Given the description of an element on the screen output the (x, y) to click on. 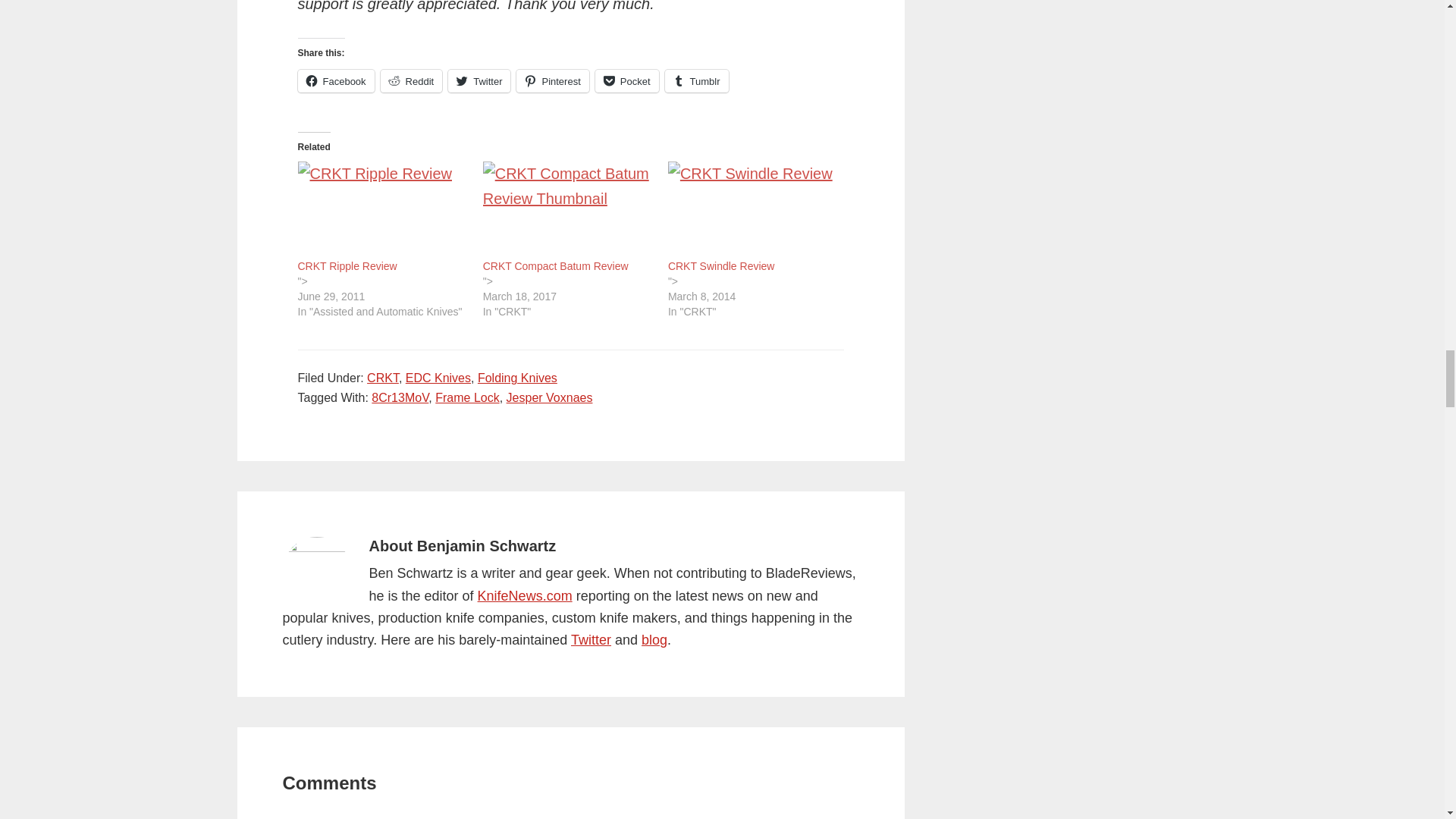
Click to share on Tumblr (697, 80)
Click to share on Twitter (479, 80)
June 29, 2011 (382, 296)
Click to share on Facebook (335, 80)
CRKT Ripple Review (382, 209)
June 29, 2011 (382, 288)
Click to share on Pinterest (552, 80)
CRKT Ripple Review (346, 265)
Click to share on Reddit (411, 80)
Click to share on Pocket (627, 80)
